Given the description of an element on the screen output the (x, y) to click on. 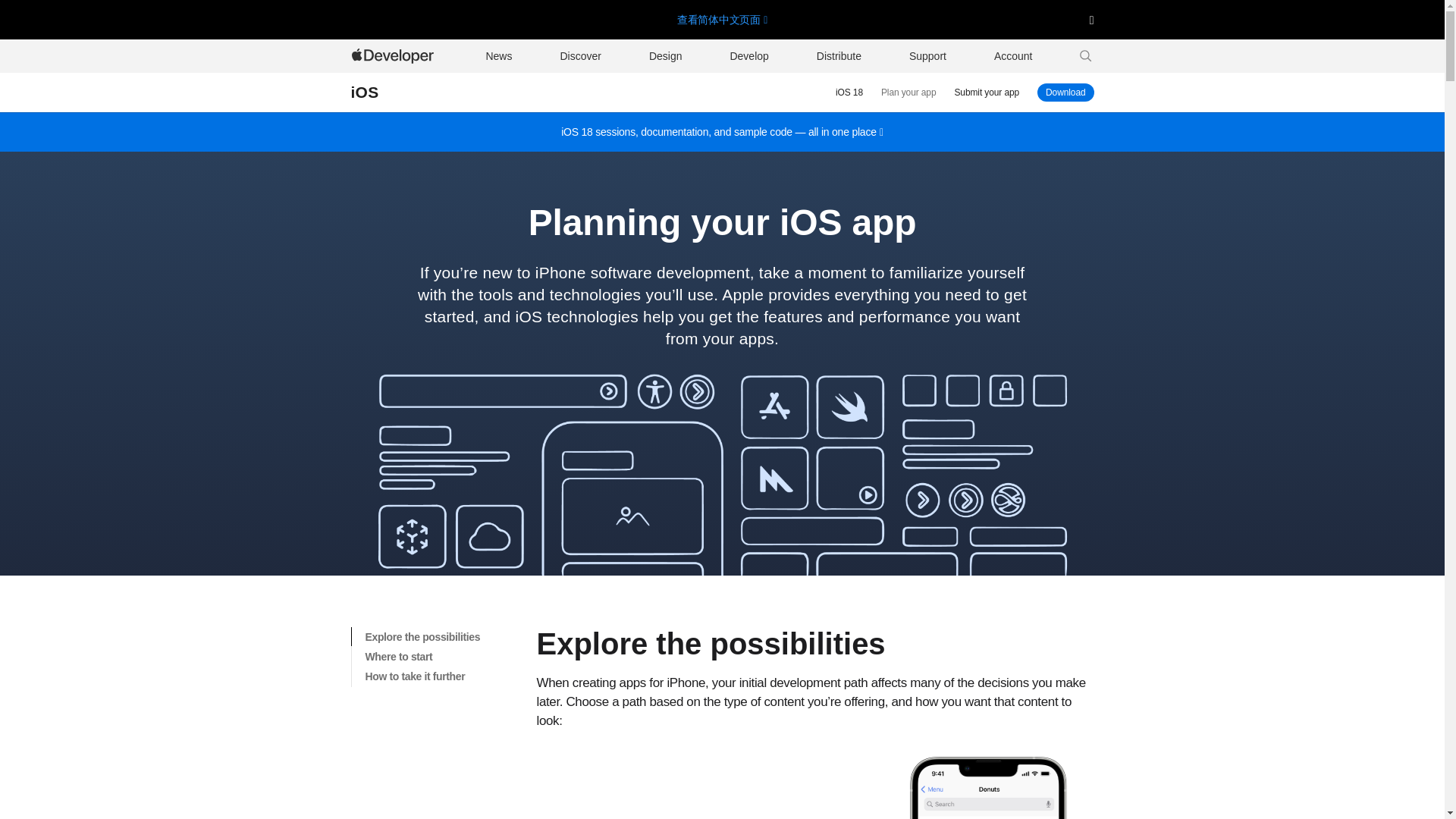
Apple Developer (393, 55)
Plan your app (908, 92)
Discover (579, 55)
Develop (749, 55)
Account (1014, 55)
How to take it further (443, 677)
iOS (1064, 92)
Distribute (364, 92)
Submit your app (839, 55)
